Given the description of an element on the screen output the (x, y) to click on. 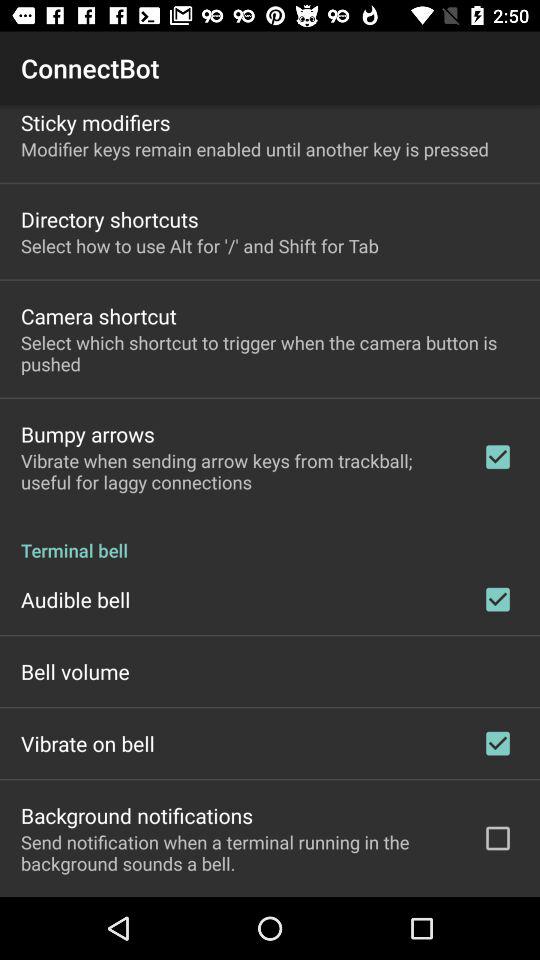
flip to the modifier keys remain item (254, 148)
